Given the description of an element on the screen output the (x, y) to click on. 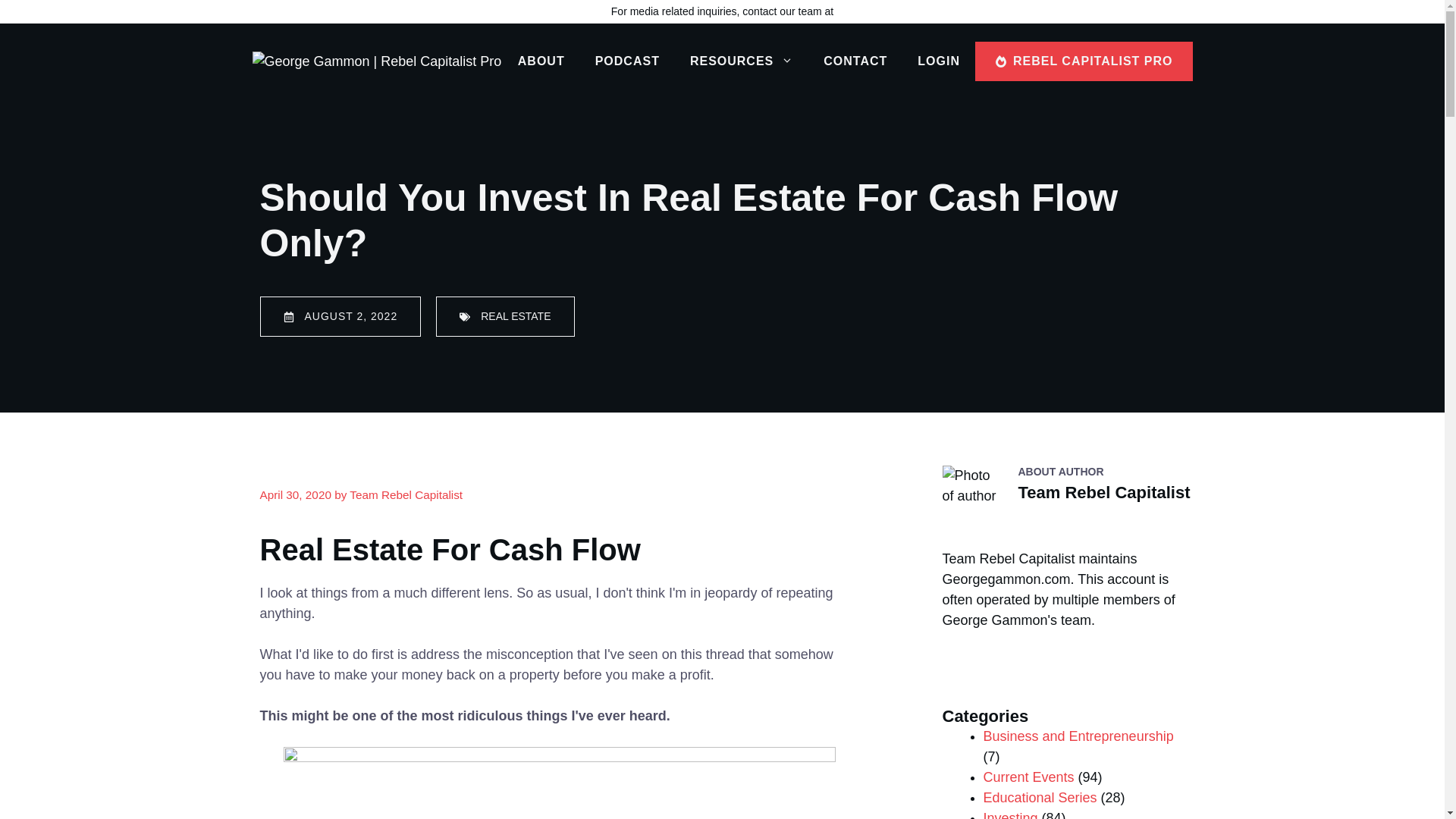
RESOURCES (741, 61)
ABOUT (540, 61)
Educational Series (1039, 797)
CONTACT (855, 61)
REAL ESTATE (504, 316)
Current Events (1028, 776)
View all posts by Team Rebel Capitalist (406, 494)
PODCAST (627, 61)
AUGUST 2, 2022 (339, 316)
REBEL CAPITALIST PRO (1083, 61)
